Given the description of an element on the screen output the (x, y) to click on. 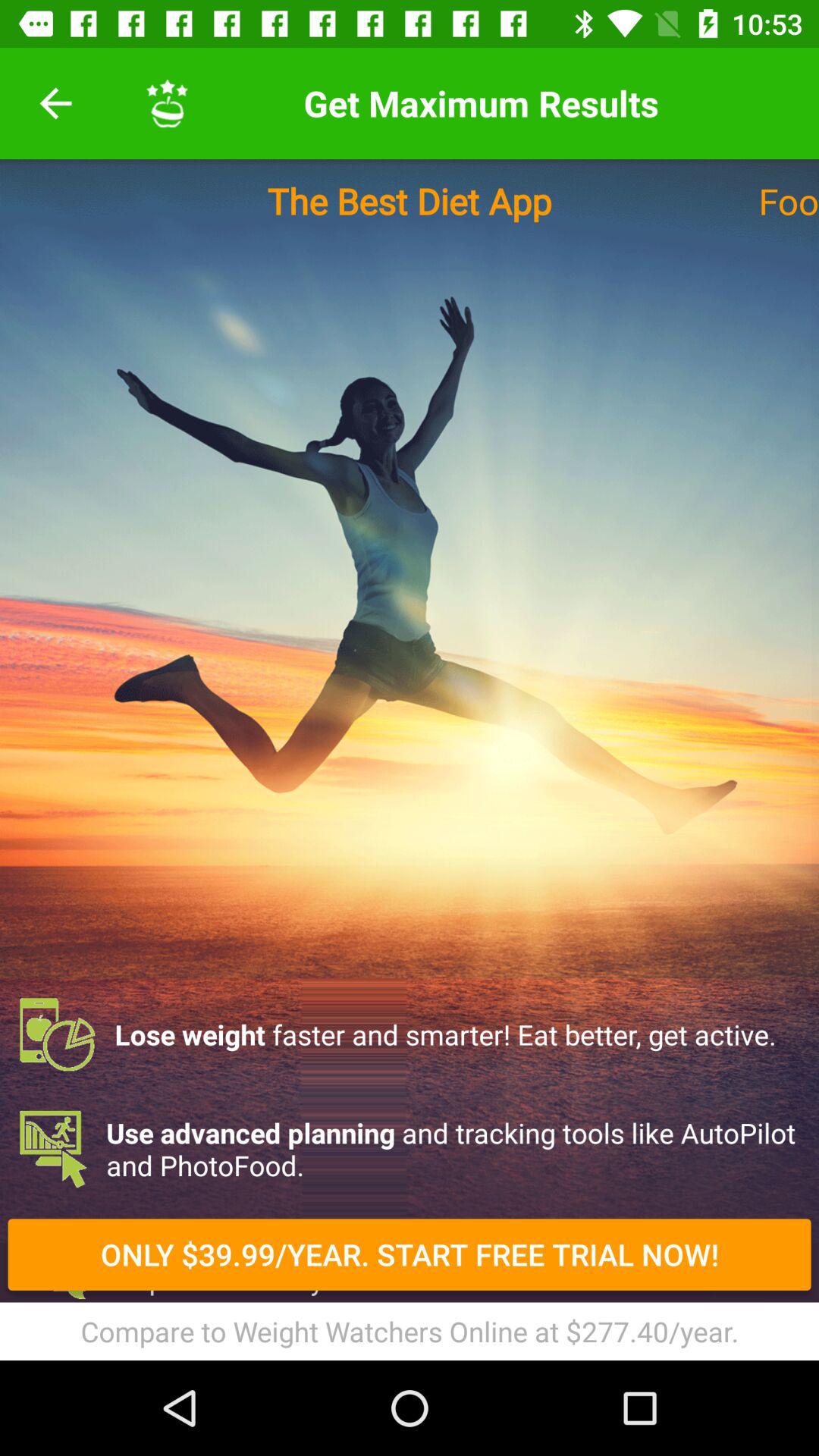
click only 39 99 item (409, 1254)
